Given the description of an element on the screen output the (x, y) to click on. 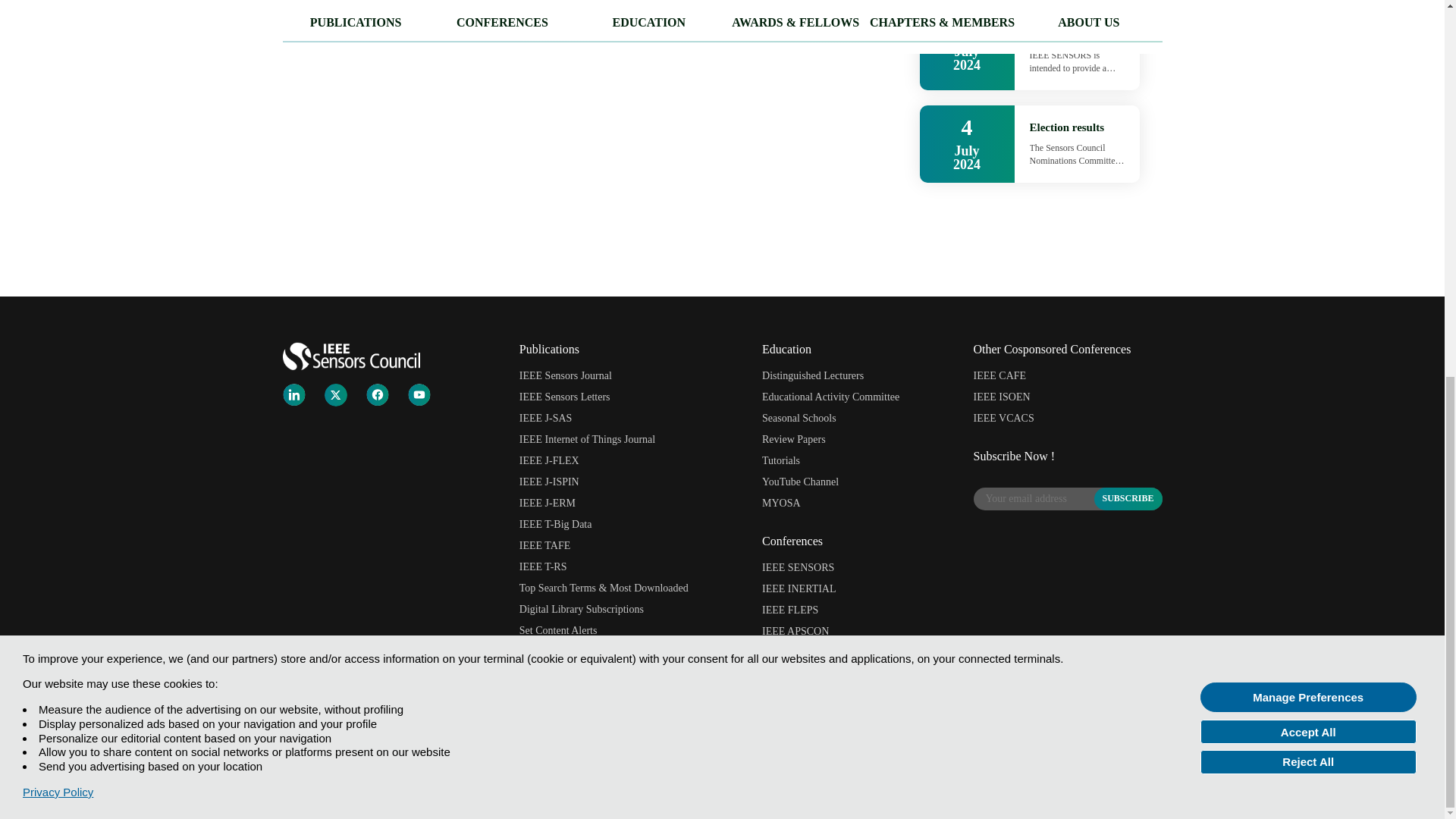
Accept All (1307, 36)
Manage Preferences (1307, 8)
Privacy Policy (58, 97)
SUBSCRIBE (1127, 498)
Reject All (1307, 66)
